Given the description of an element on the screen output the (x, y) to click on. 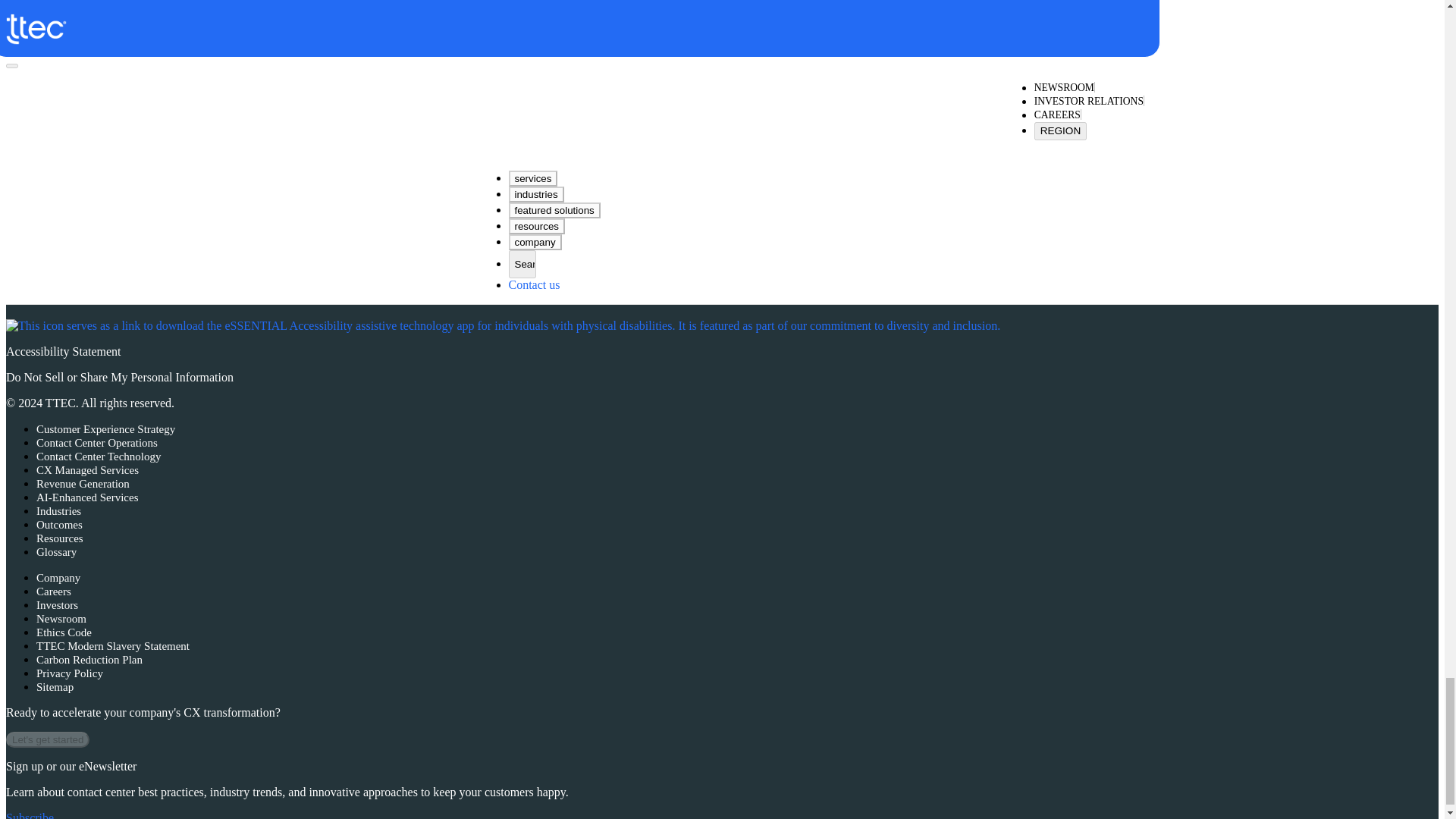
Complete this form to contact TTEC (526, 27)
